Given the description of an element on the screen output the (x, y) to click on. 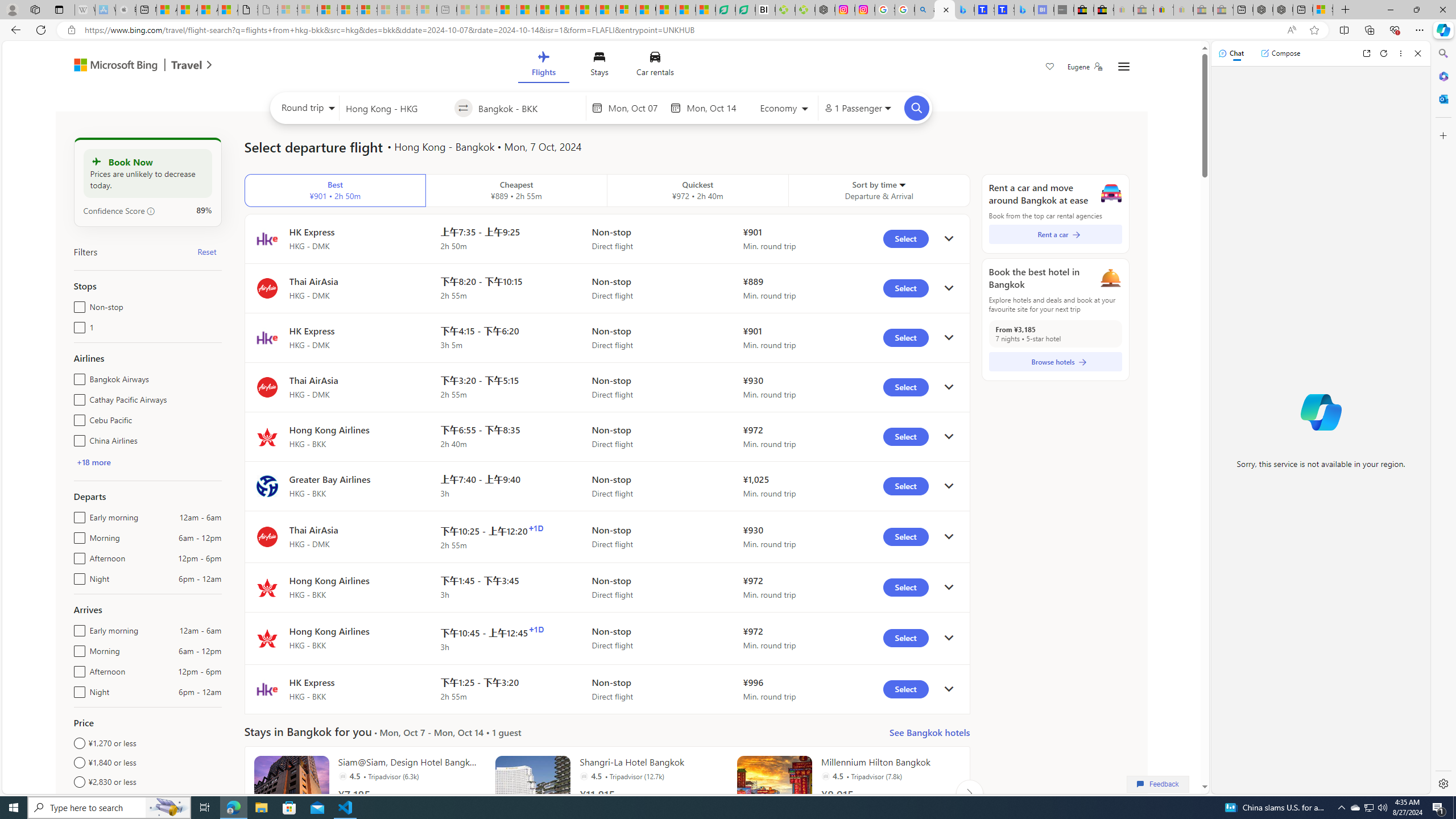
Browse hotels (1055, 361)
Microsoft Services Agreement - Sleeping (306, 9)
Top Stories - MSN - Sleeping (466, 9)
Buy iPad - Apple - Sleeping (125, 9)
Leaving from? (396, 107)
Yard, Garden & Outdoor Living - Sleeping (1222, 9)
Shangri-La Bangkok, Hotel reviews and Room rates (1004, 9)
Food and Drink - MSN (526, 9)
China Airlines (76, 438)
